Given the description of an element on the screen output the (x, y) to click on. 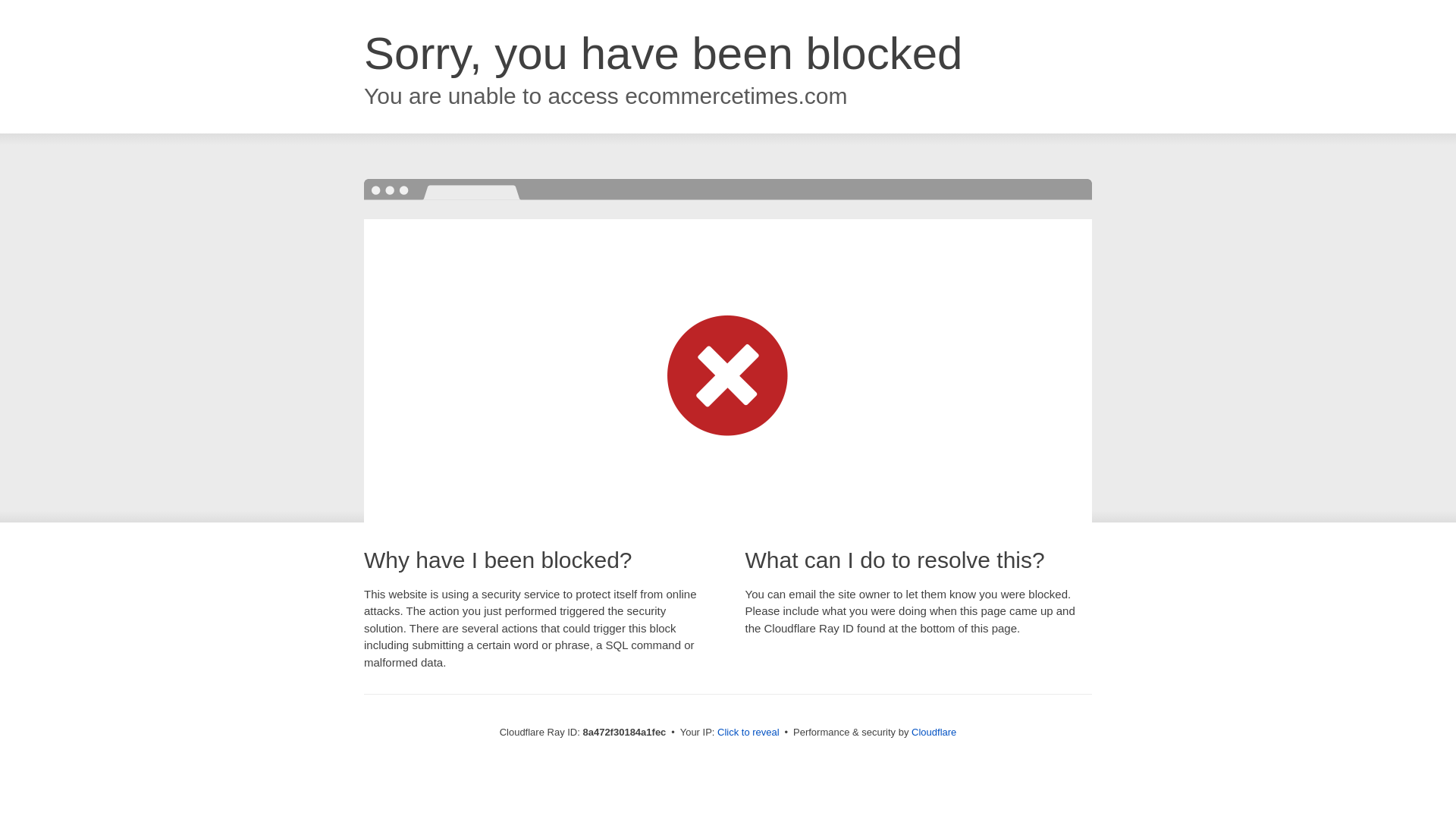
Cloudflare (933, 731)
Click to reveal (747, 732)
